Given the description of an element on the screen output the (x, y) to click on. 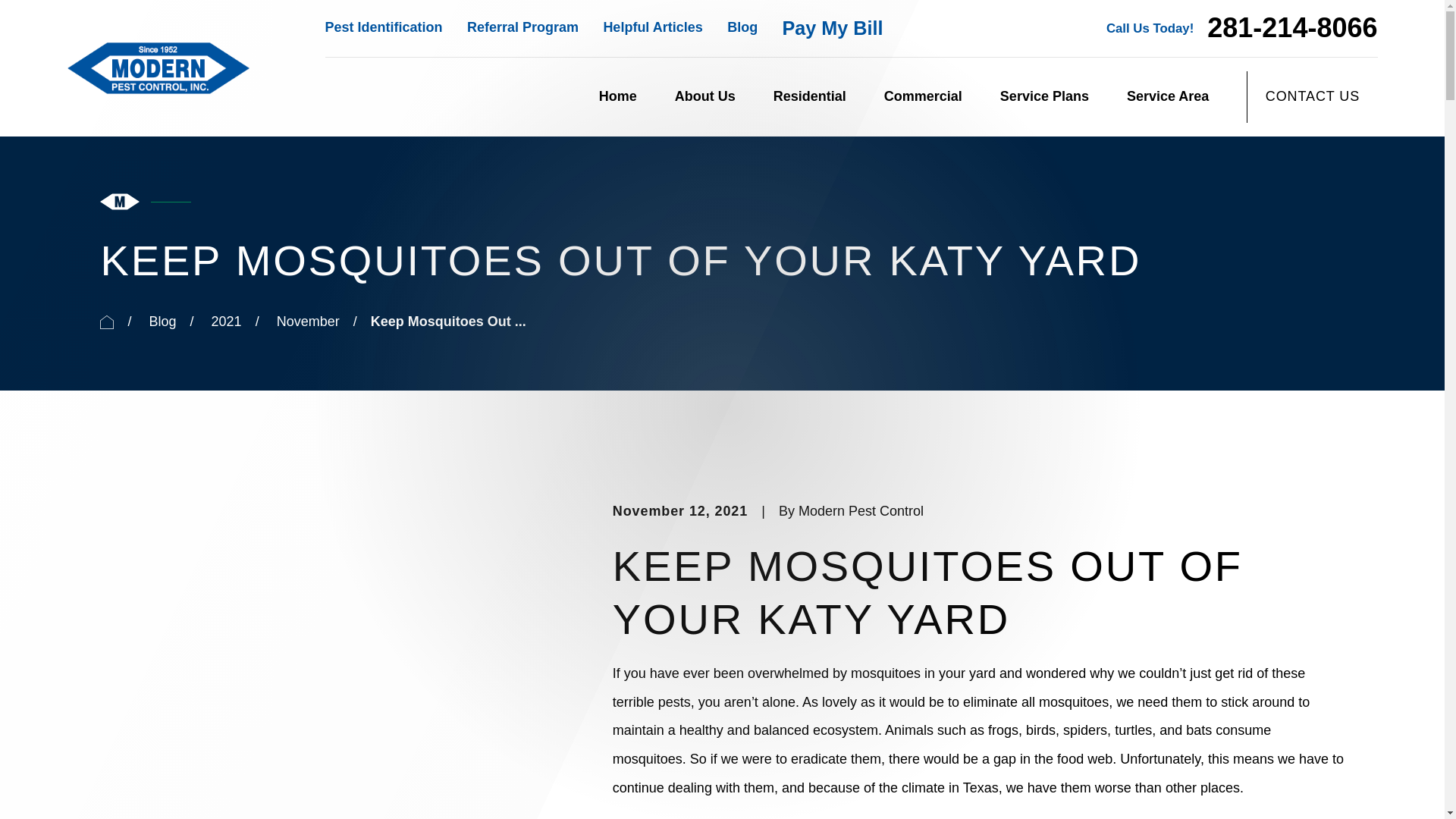
Service Plans (1044, 96)
Service Area (1167, 96)
Commercial (922, 96)
Referral Program (522, 27)
Home (157, 67)
Go Home (106, 322)
Blog (741, 27)
281-214-8066 (1292, 27)
Residential (809, 96)
Pest Identification (383, 27)
